Given the description of an element on the screen output the (x, y) to click on. 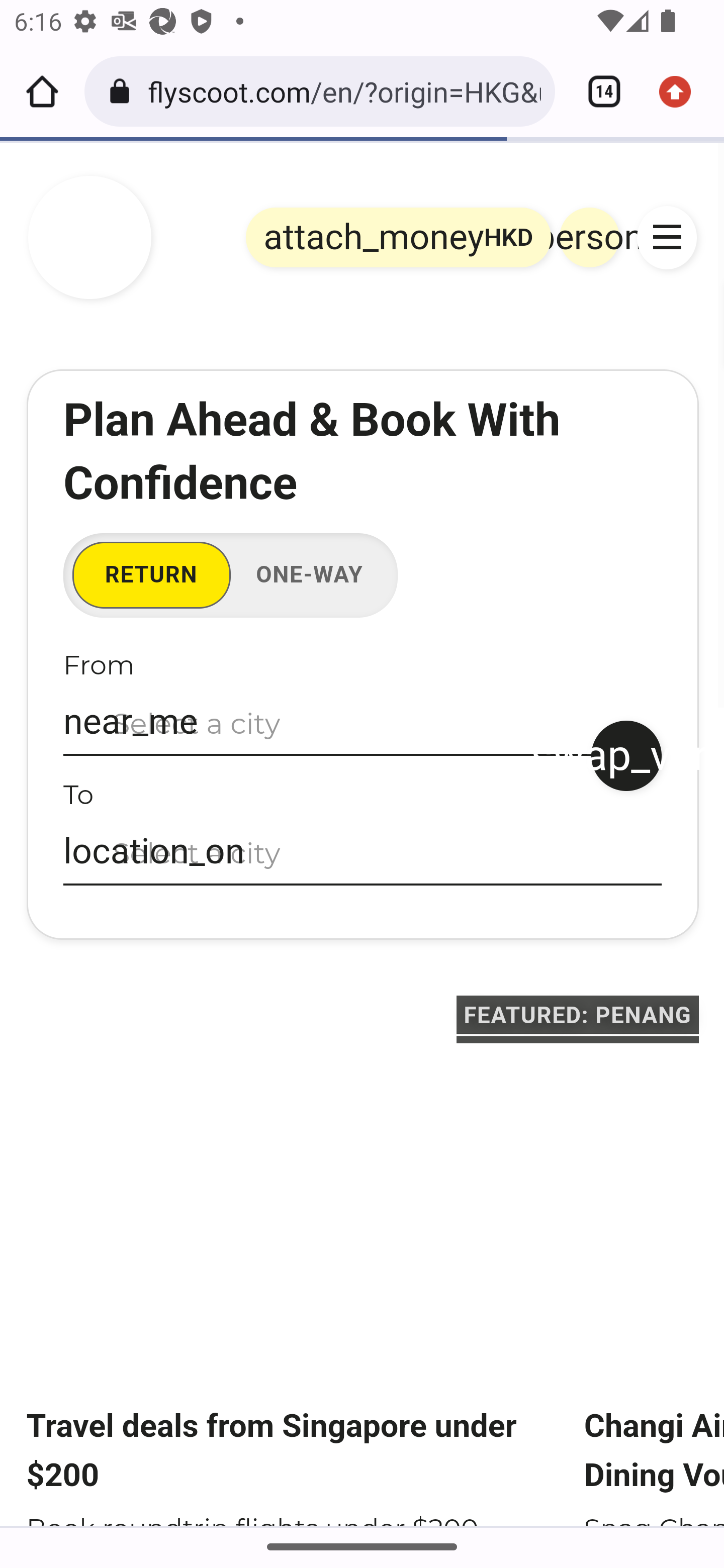
Home (42, 91)
Connection is secure (122, 91)
Switch or close tabs (597, 91)
Update available. More options (681, 91)
Scoot (90, 238)
Toggle Menu (667, 237)
person (590, 237)
